Given the description of an element on the screen output the (x, y) to click on. 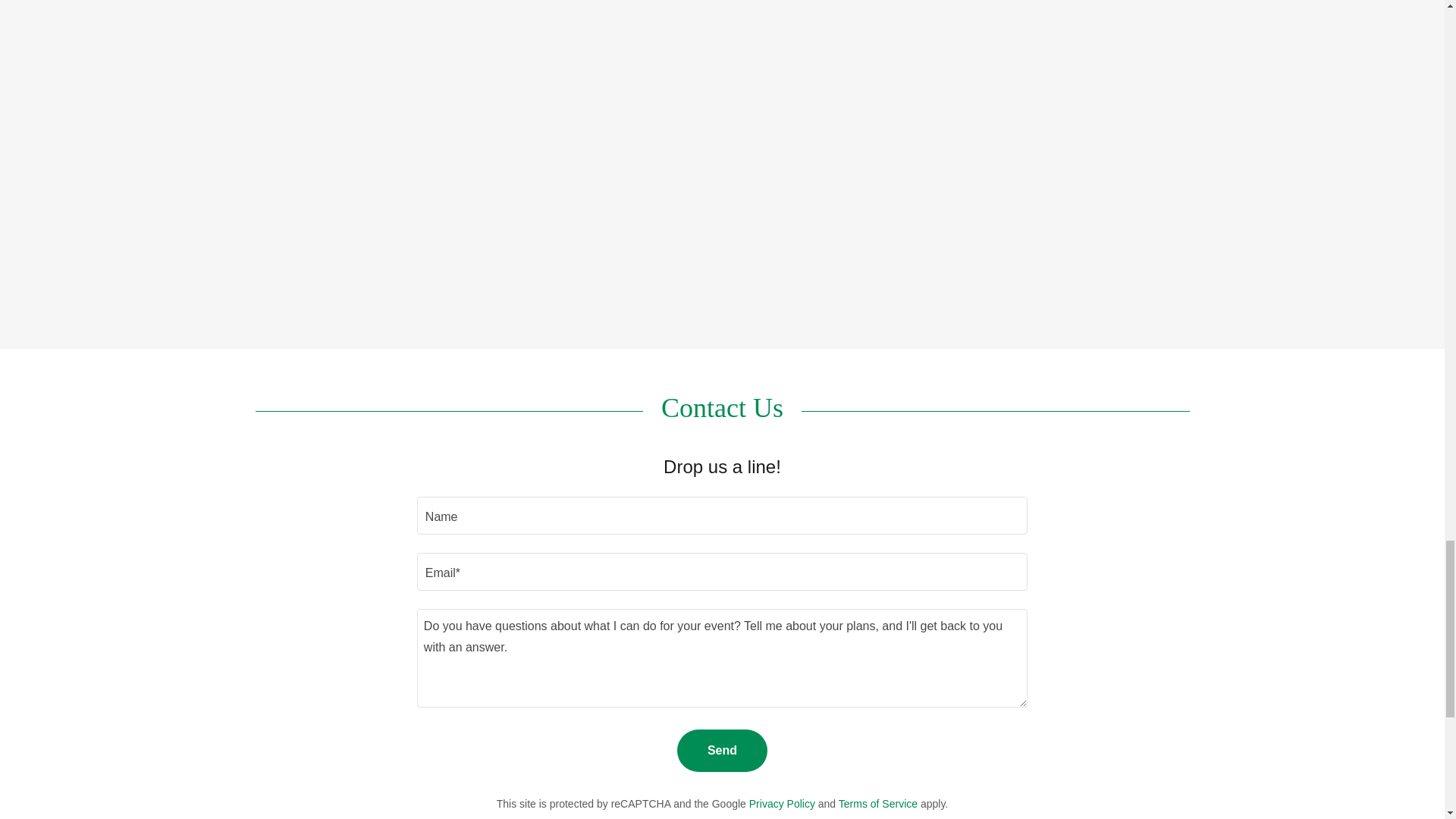
Privacy Policy (782, 803)
Send (722, 750)
Terms of Service (877, 803)
